Given the description of an element on the screen output the (x, y) to click on. 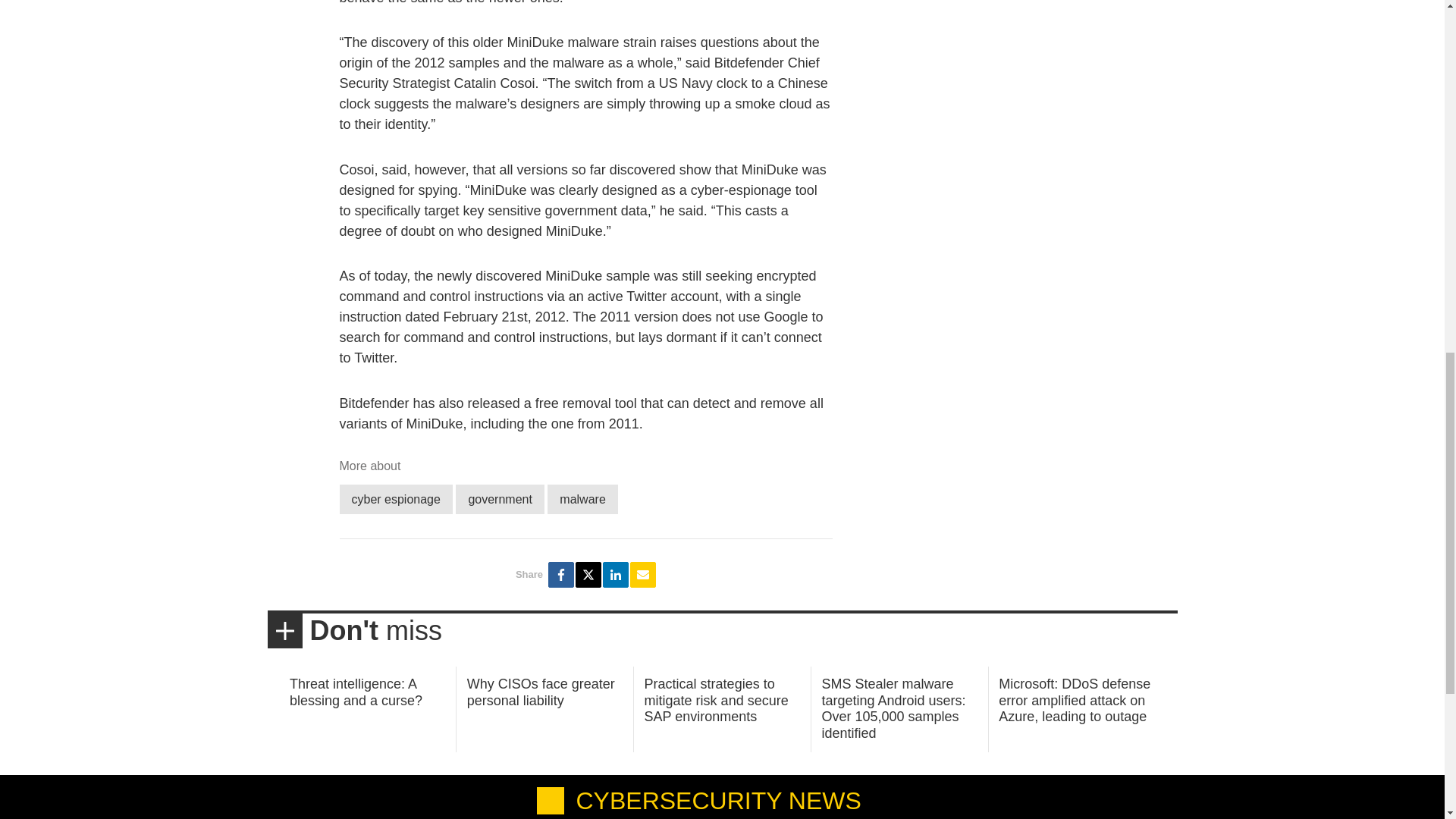
malware (582, 499)
government (499, 499)
Threat intelligence: A blessing and a curse? (355, 692)
government (499, 499)
malware (582, 499)
cyber espionage (395, 499)
Why CISOs face greater personal liability (540, 692)
cyber espionage (395, 499)
